Given the description of an element on the screen output the (x, y) to click on. 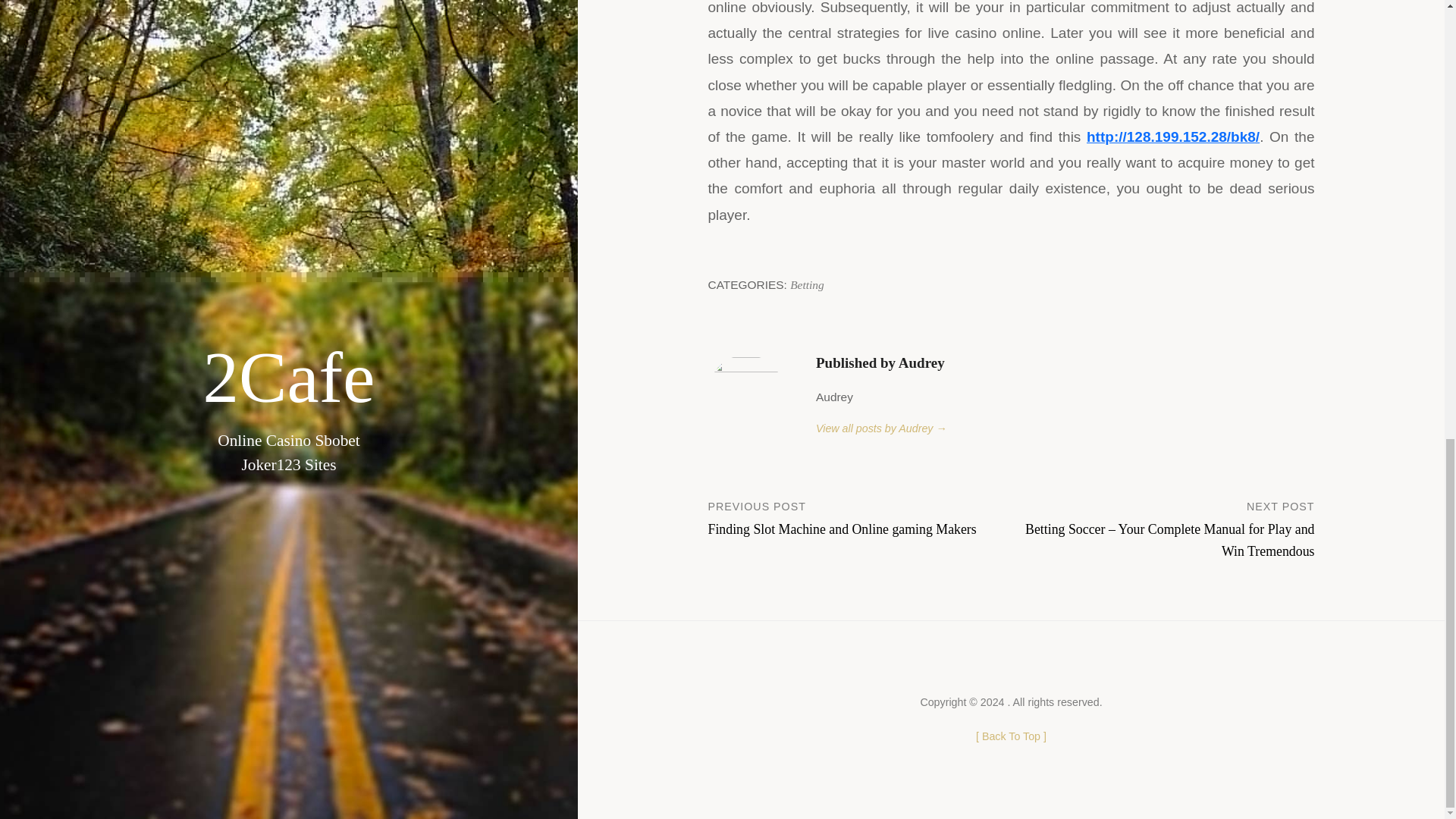
Betting (859, 517)
Back To Top (807, 284)
